Given the description of an element on the screen output the (x, y) to click on. 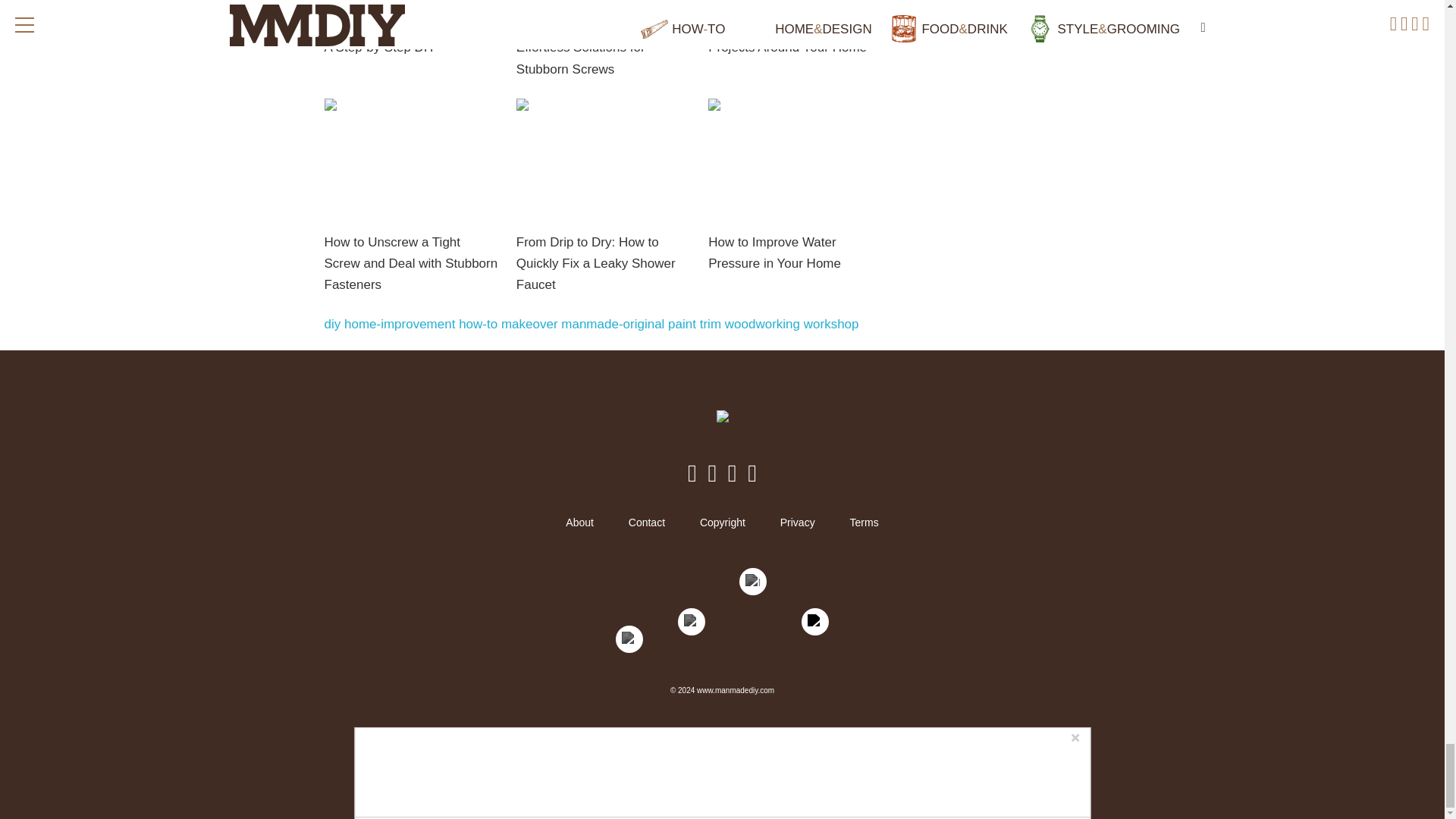
Decoist (629, 642)
Slow Robot (815, 633)
Higher Perspectives (691, 633)
I Waste So Much Time (753, 613)
